Given the description of an element on the screen output the (x, y) to click on. 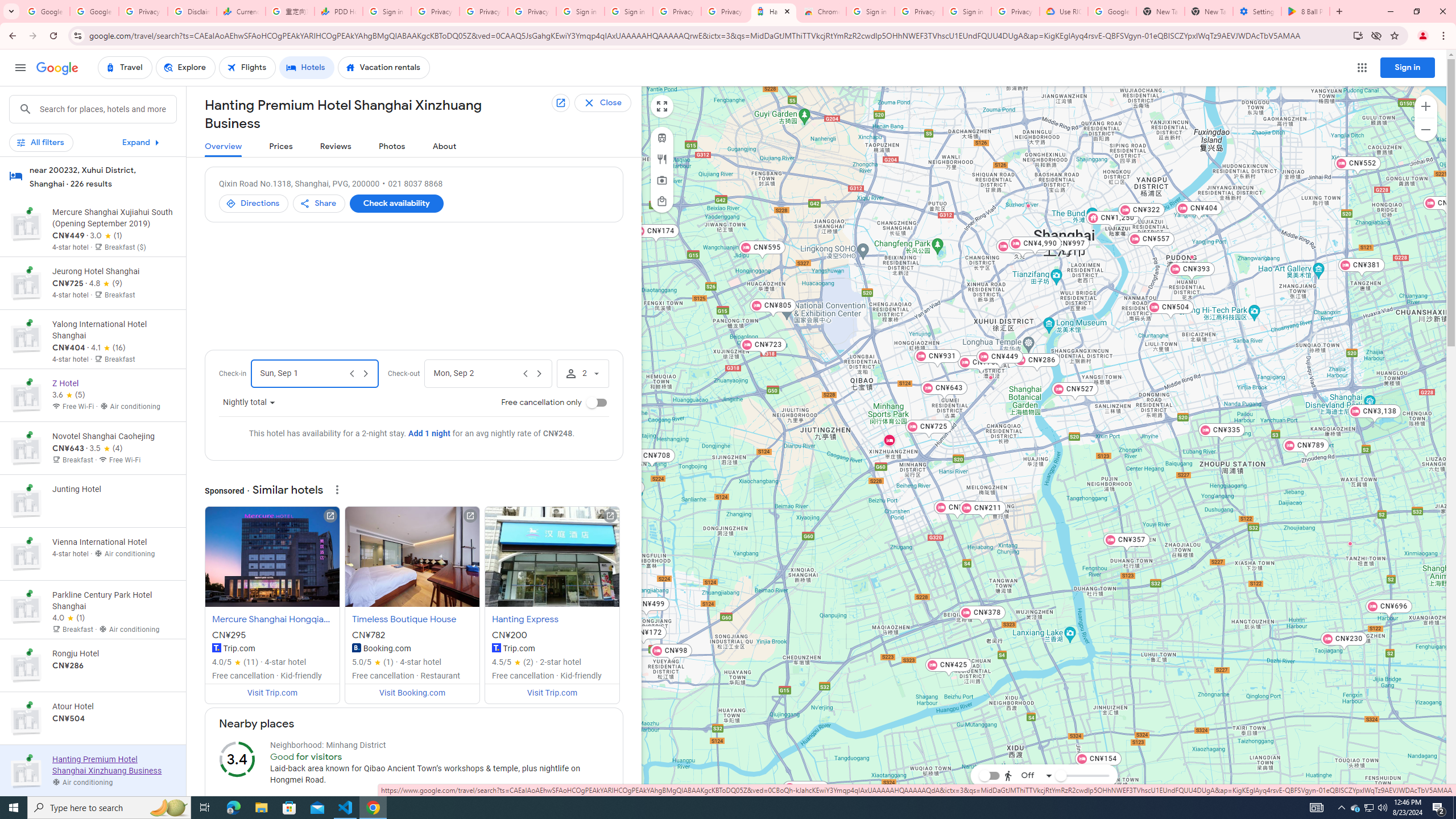
8 Ball Pool - Apps on Google Play (1305, 11)
All filters (40, 142)
